Given the description of an element on the screen output the (x, y) to click on. 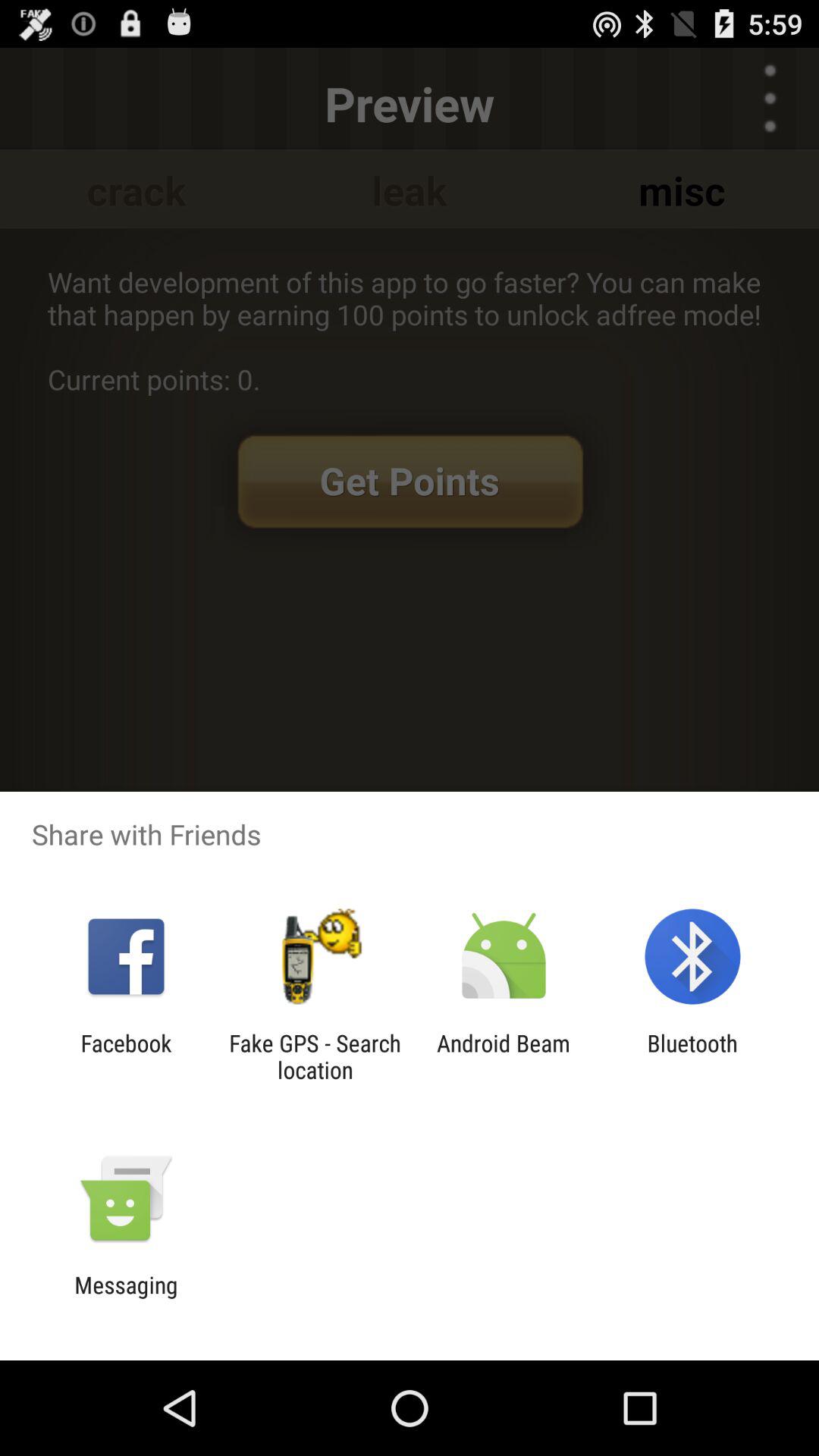
swipe until facebook app (125, 1056)
